Given the description of an element on the screen output the (x, y) to click on. 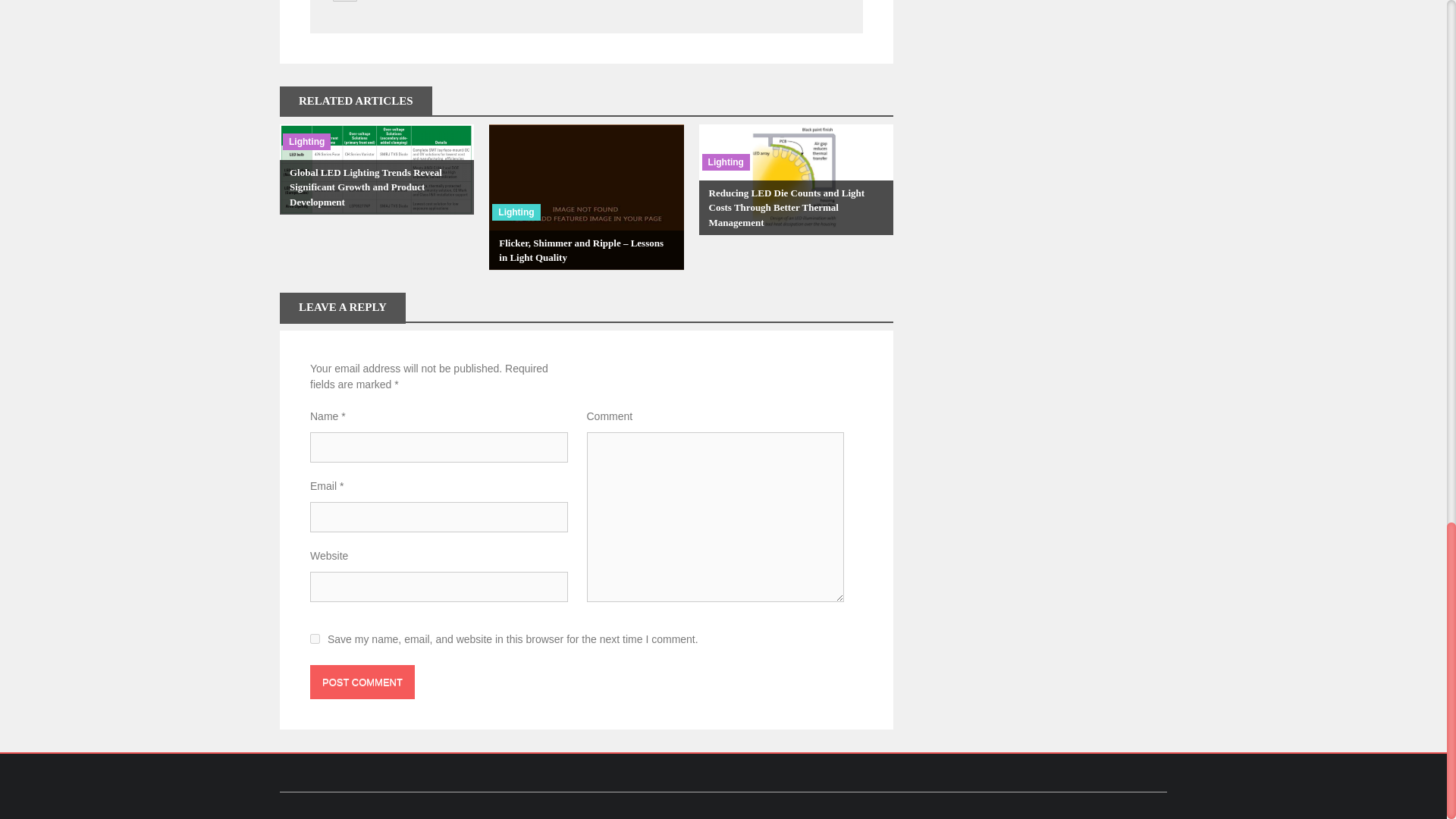
Lighting (516, 211)
Post Comment (362, 682)
Lighting (306, 141)
Fardin (393, 0)
yes (315, 638)
Posts by Fardin (393, 0)
Lighting (725, 161)
Post Comment (362, 682)
